Given the description of an element on the screen output the (x, y) to click on. 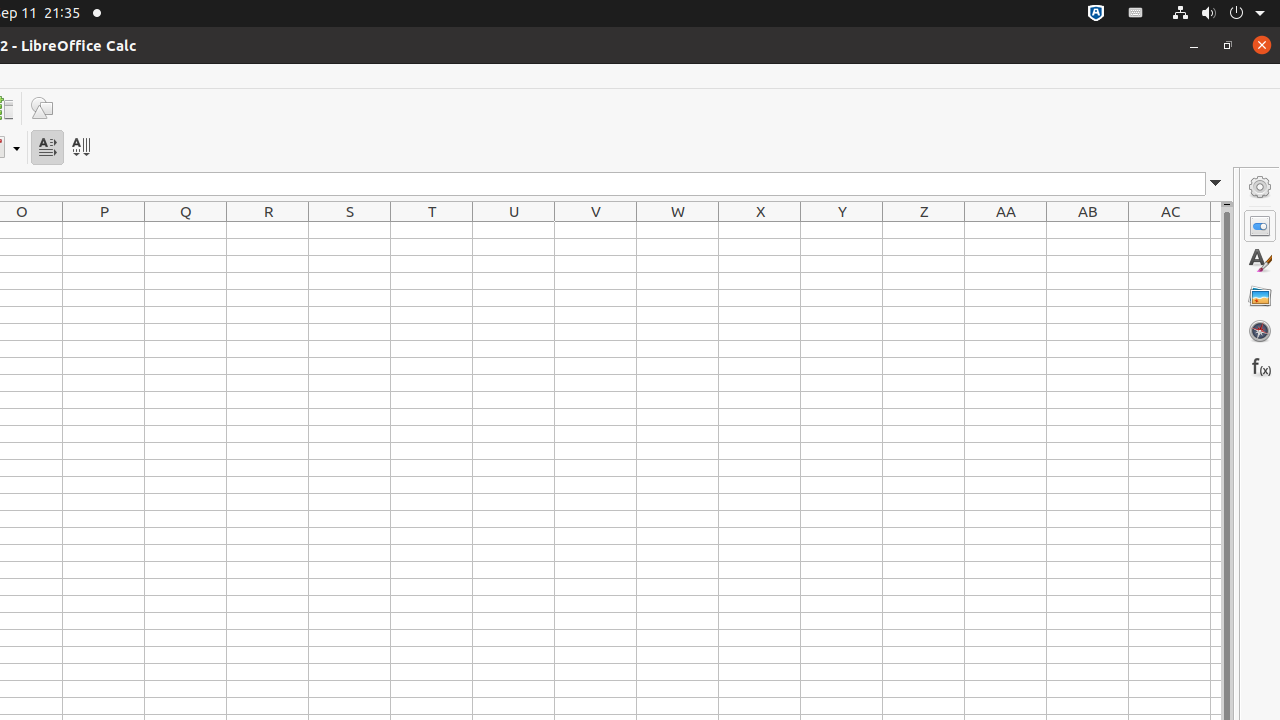
U1 Element type: table-cell (514, 230)
